Given the description of an element on the screen output the (x, y) to click on. 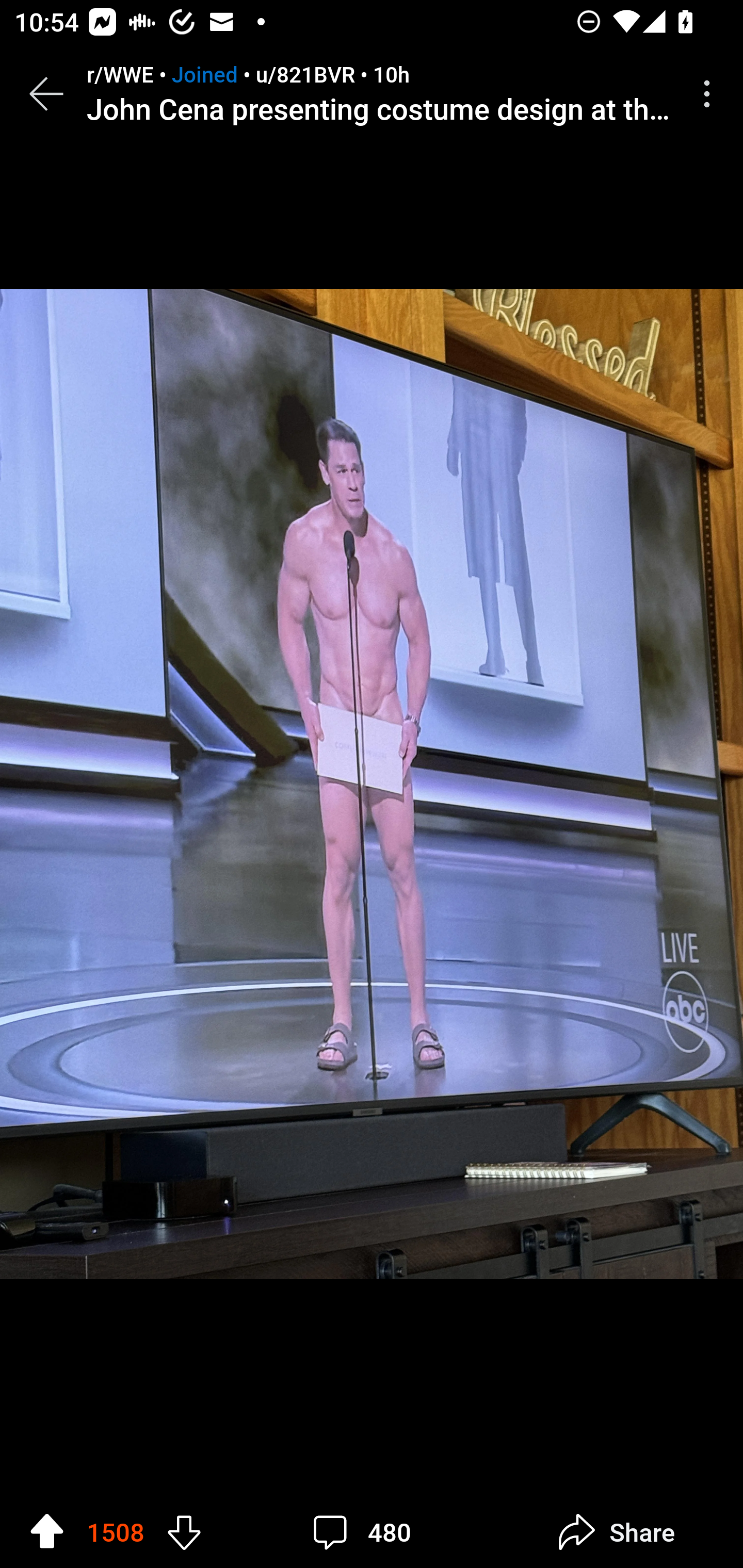
Back (46, 93)
More options (710, 93)
Upvote 1508 votes Downvote (115, 1531)
480 comments 480 (367, 1531)
Share (616, 1531)
Upvote (46, 1531)
Downvote (184, 1531)
